Given the description of an element on the screen output the (x, y) to click on. 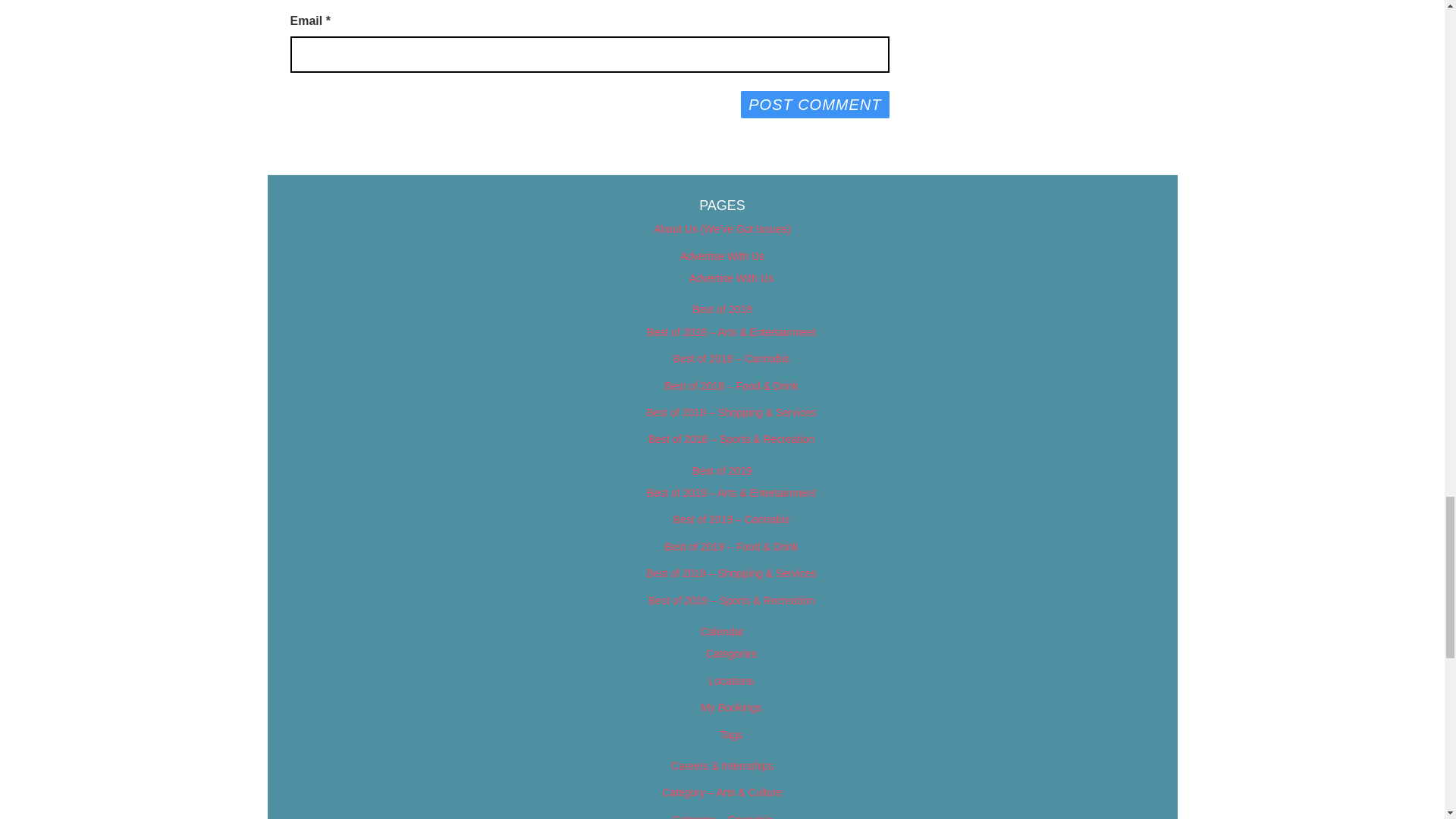
Post Comment (814, 103)
